Given the description of an element on the screen output the (x, y) to click on. 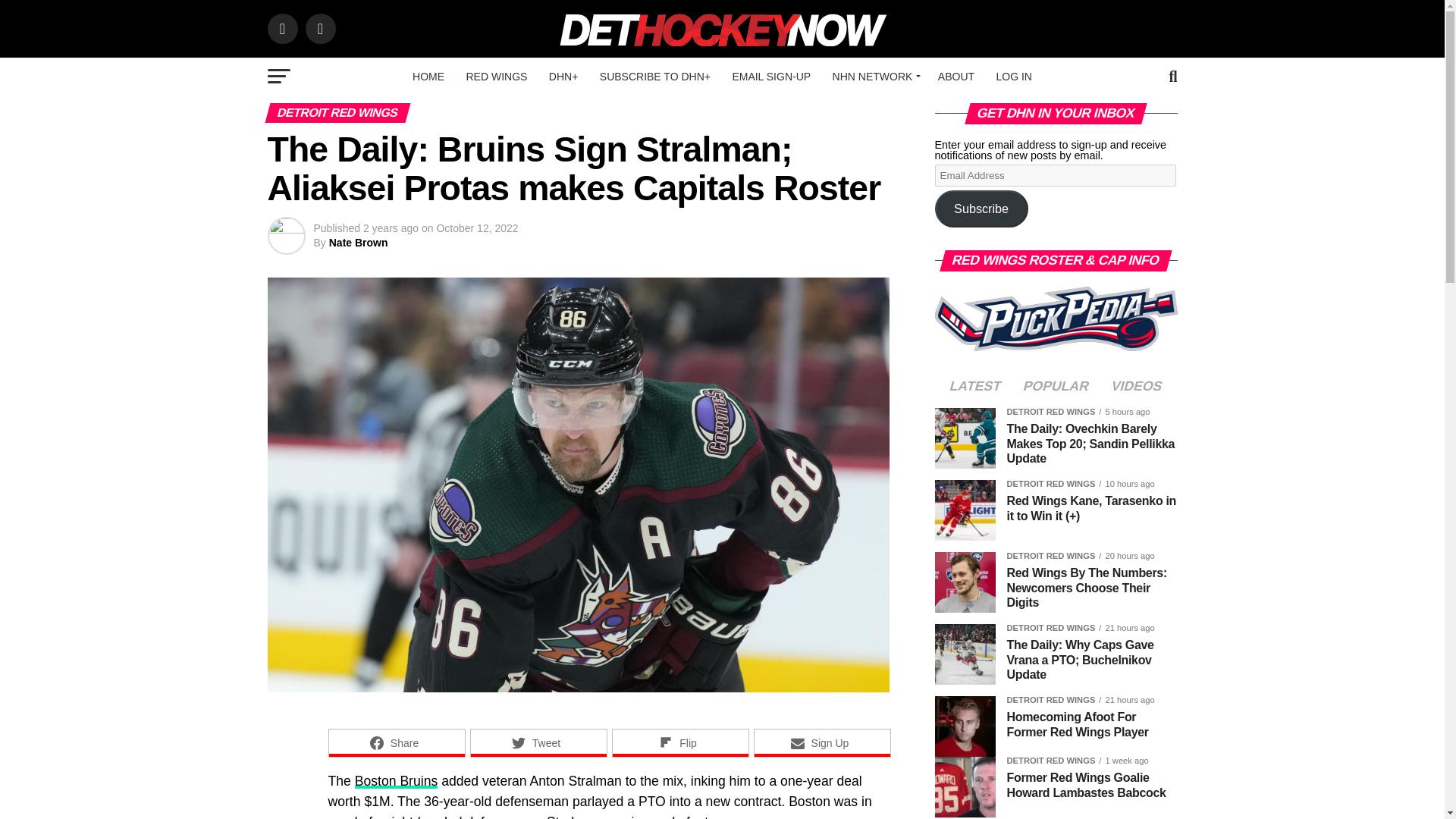
Share on Tweet (538, 742)
Share on Share (395, 742)
Share on Flip (679, 742)
Posts by Nate Brown (358, 242)
RED WINGS (496, 76)
HOME (427, 76)
Share on Sign Up (822, 742)
